Given the description of an element on the screen output the (x, y) to click on. 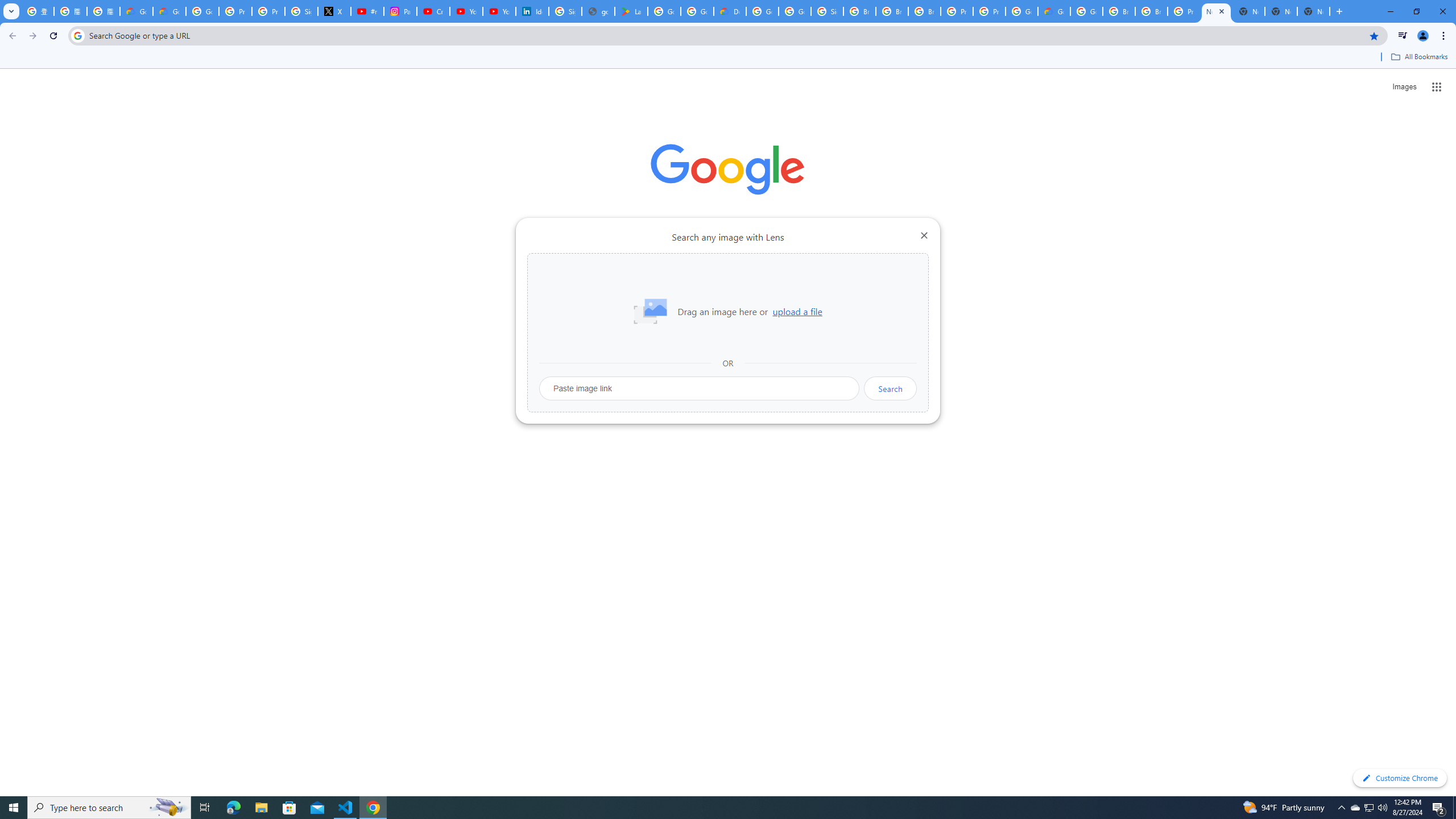
Google Cloud Platform (1086, 11)
X (334, 11)
Paste image link (699, 388)
Browse Chrome as a guest - Computer - Google Chrome Help (891, 11)
upload a file (796, 311)
